Given the description of an element on the screen output the (x, y) to click on. 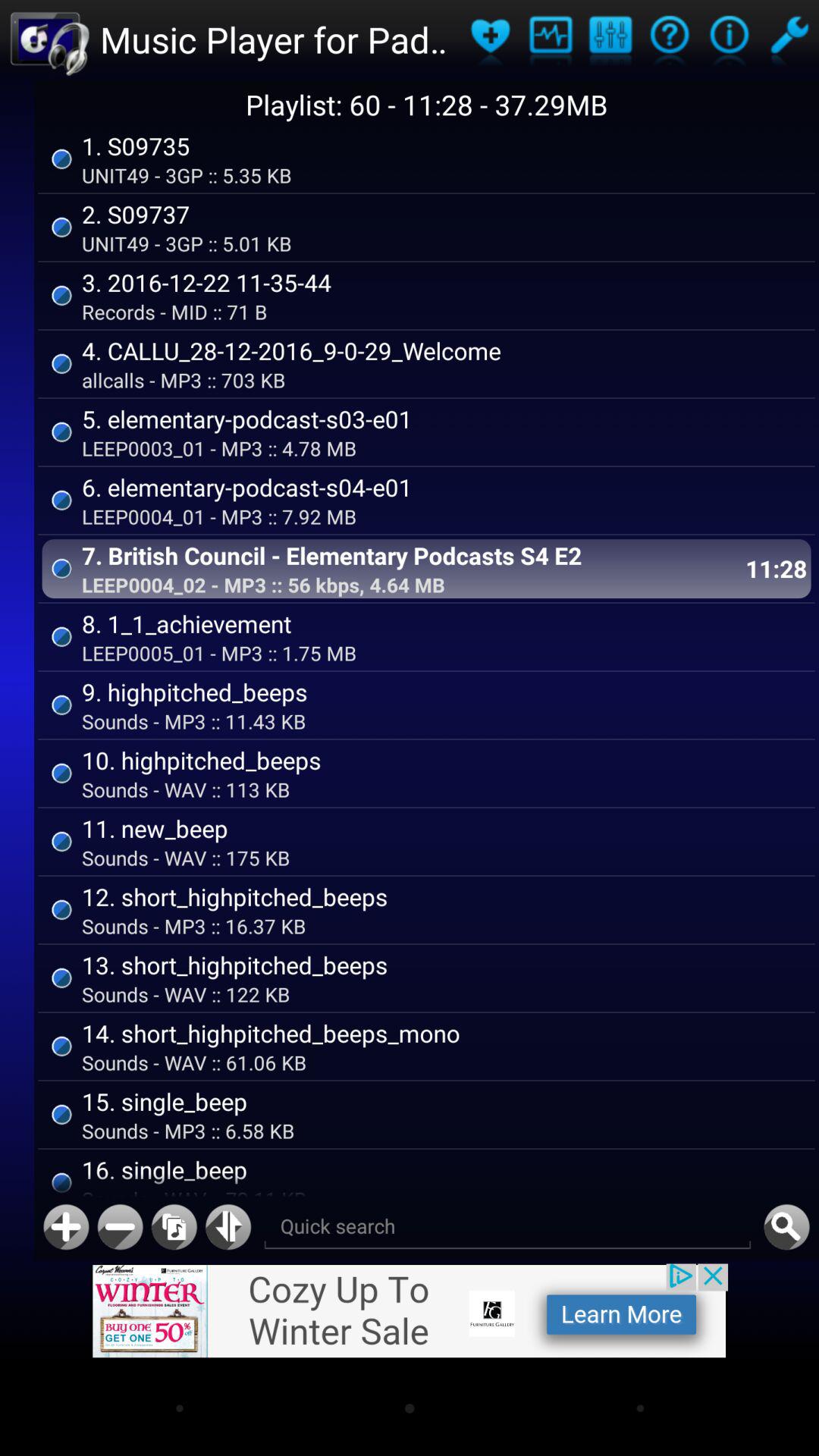
details (729, 39)
